Given the description of an element on the screen output the (x, y) to click on. 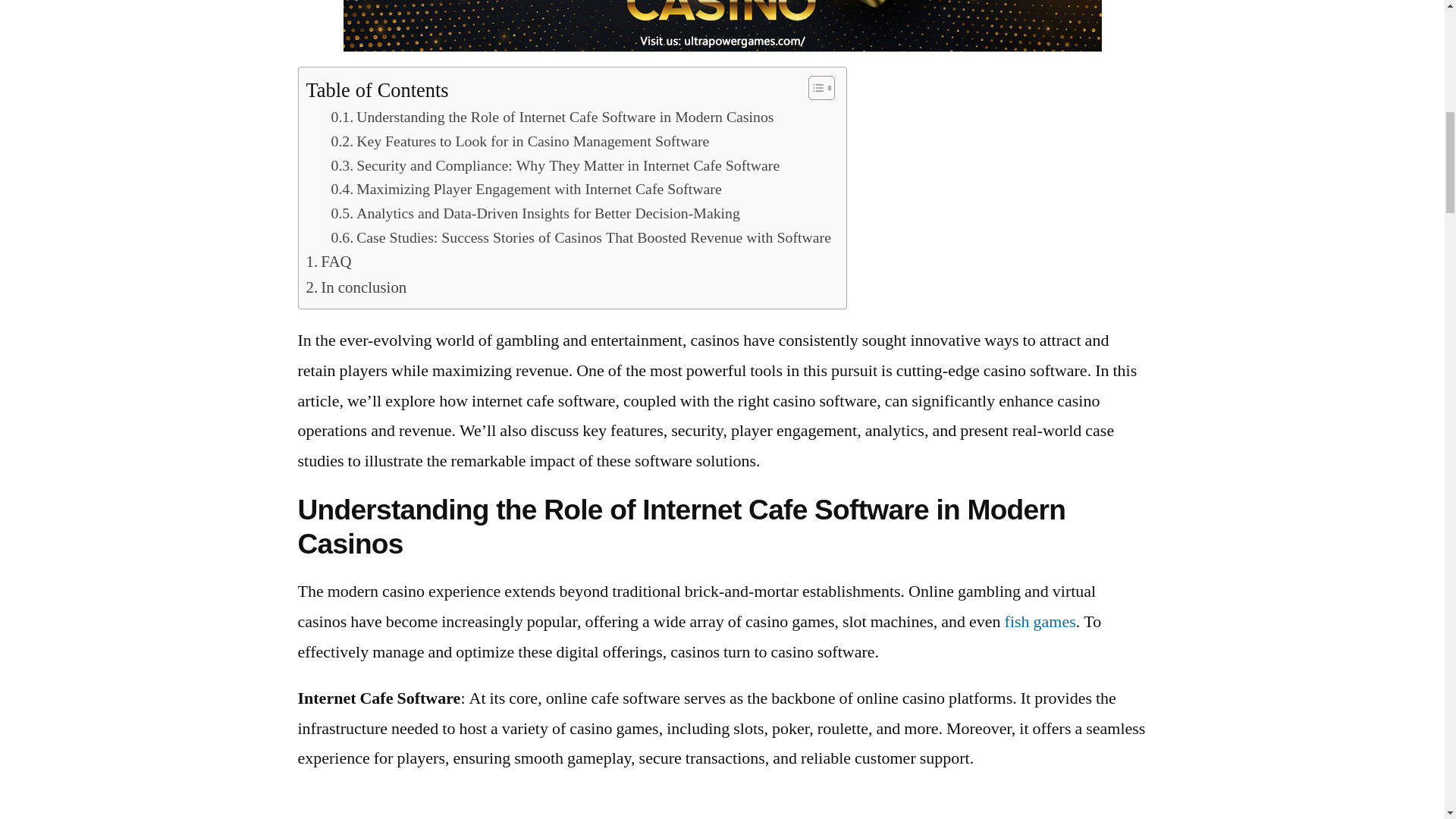
FAQ (328, 262)
In conclusion (356, 288)
FAQ (328, 262)
In conclusion (356, 288)
Key Features to Look for in Casino Management Software (519, 142)
Key Features to Look for in Casino Management Software (519, 142)
fish games (1039, 621)
Maximizing Player Engagement with Internet Cafe Software (525, 190)
